Given the description of an element on the screen output the (x, y) to click on. 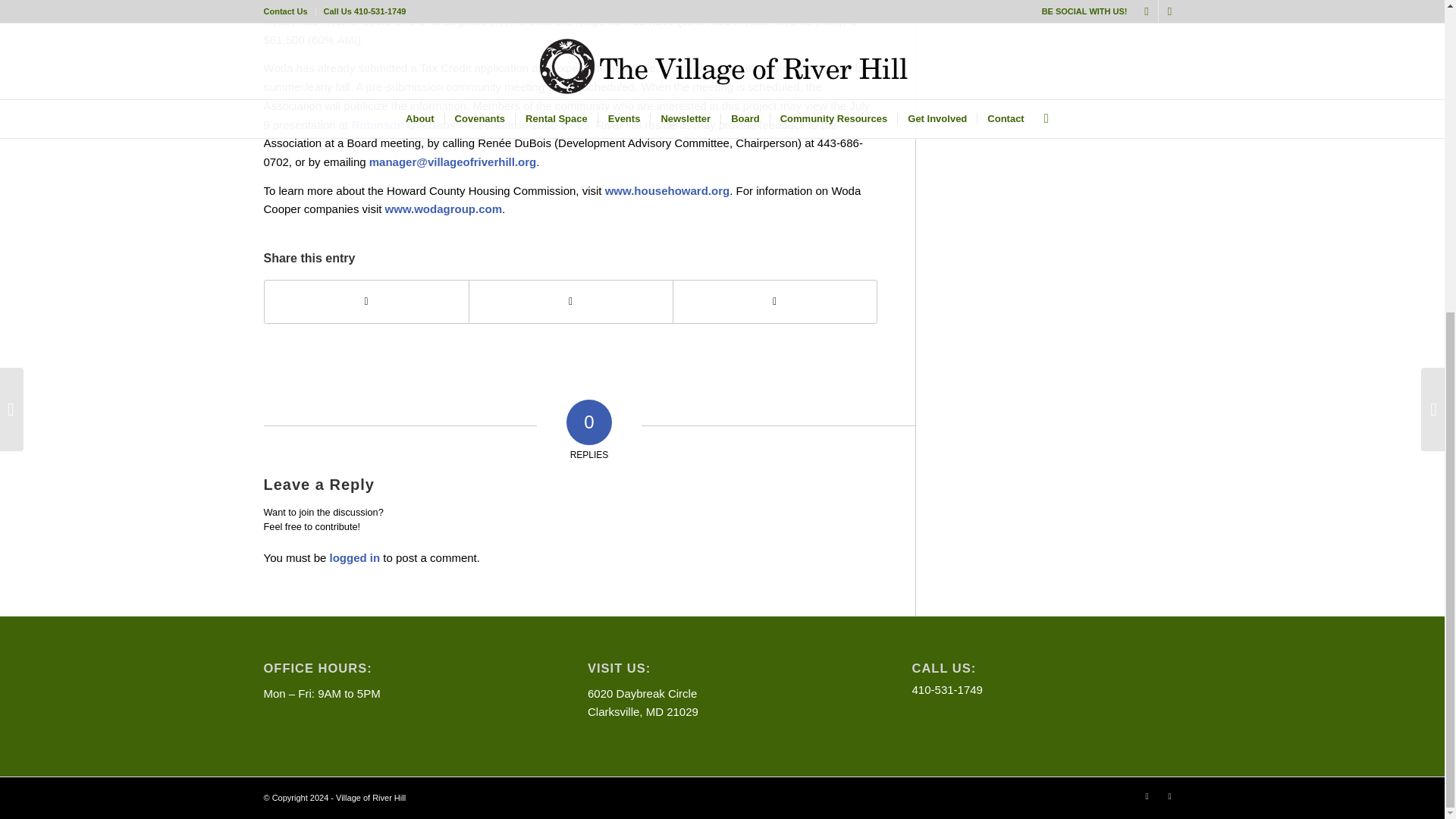
Page 7 (570, 200)
Twitter (1146, 795)
Facebook (1169, 795)
